Given the description of an element on the screen output the (x, y) to click on. 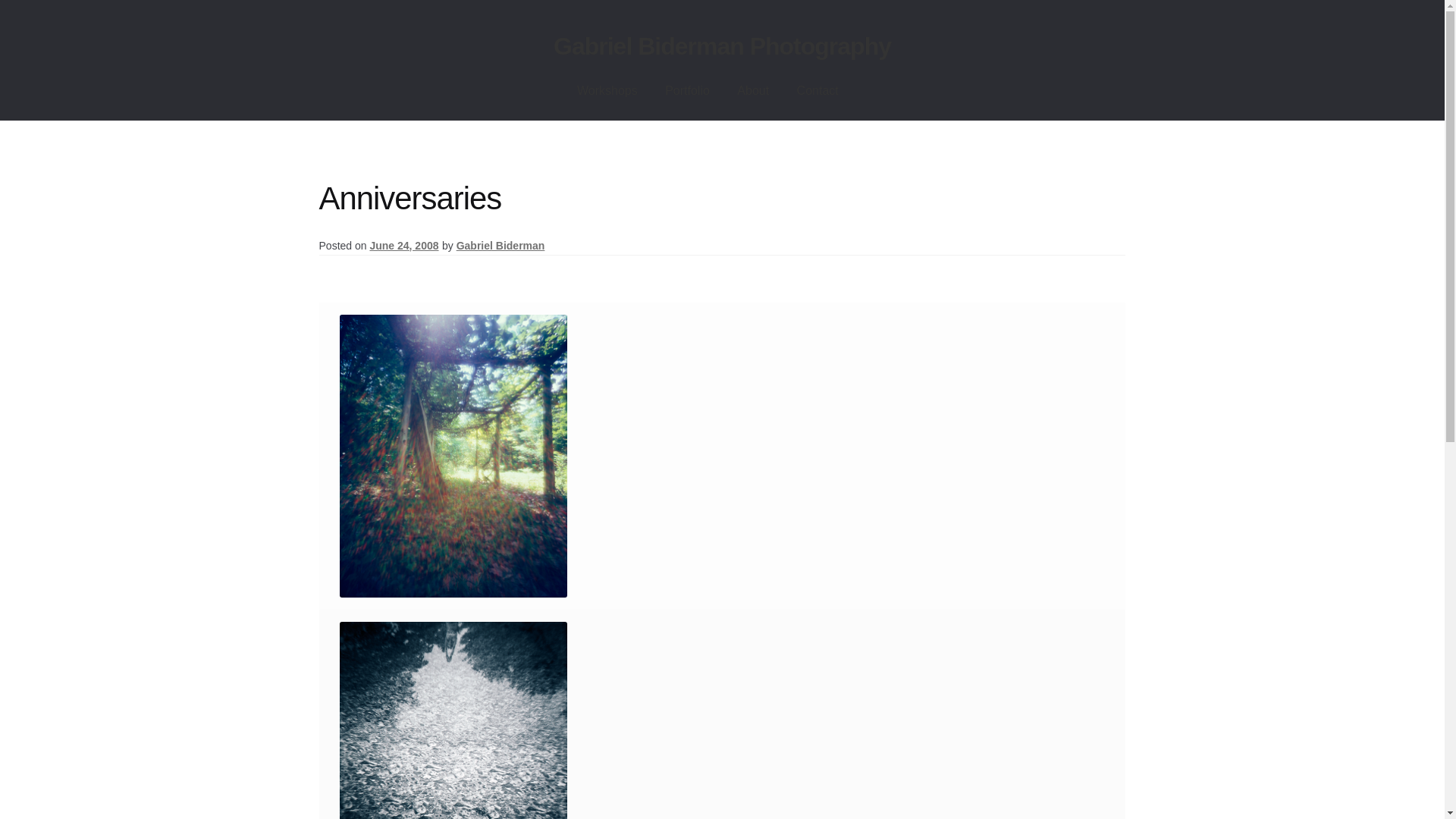
Gabriel Biderman Photography (722, 45)
Gabriel Biderman (500, 245)
Workshops (606, 90)
Portfolio (687, 90)
Contact (817, 90)
About (752, 90)
June 24, 2008 (403, 245)
